Given the description of an element on the screen output the (x, y) to click on. 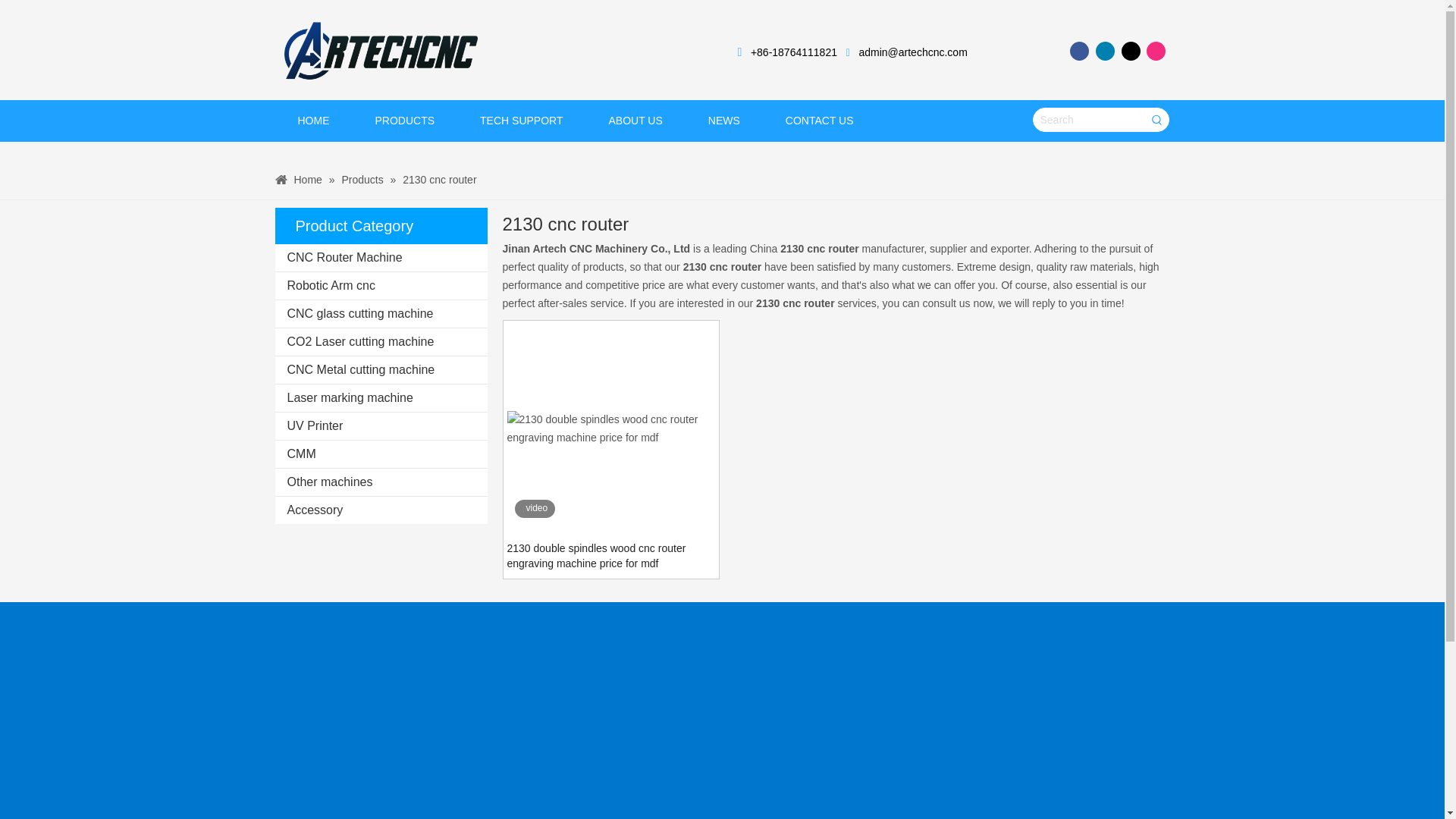
Twitter (1130, 50)
PRODUCTS (404, 120)
Linkedin (1105, 50)
HOME (313, 120)
TECH SUPPORT (521, 120)
Facebook (1079, 50)
Instagram (1156, 50)
CNC Router Machine (380, 257)
